Given the description of an element on the screen output the (x, y) to click on. 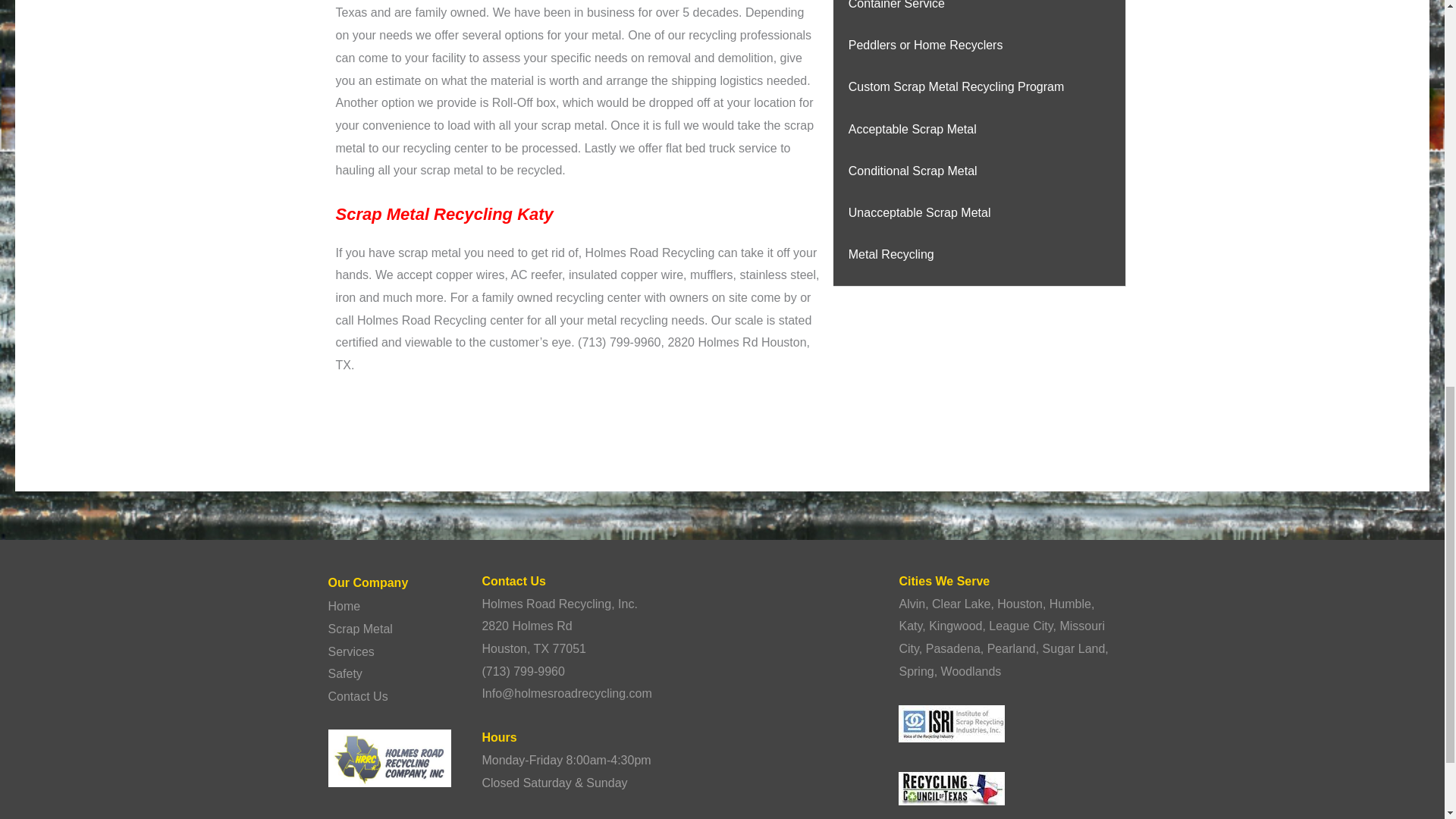
Conditional Scrap Metal (912, 170)
Scrap Metal (359, 628)
Unacceptable Scrap Metal (919, 212)
Contact Us (357, 696)
Peddlers or Home Recyclers (925, 44)
Custom Scrap Metal Recycling Program (956, 86)
Metal Recycling (891, 254)
Services (350, 651)
Container Service (896, 4)
Acceptable Scrap Metal (912, 128)
Home (343, 605)
Safety (344, 673)
